Given the description of an element on the screen output the (x, y) to click on. 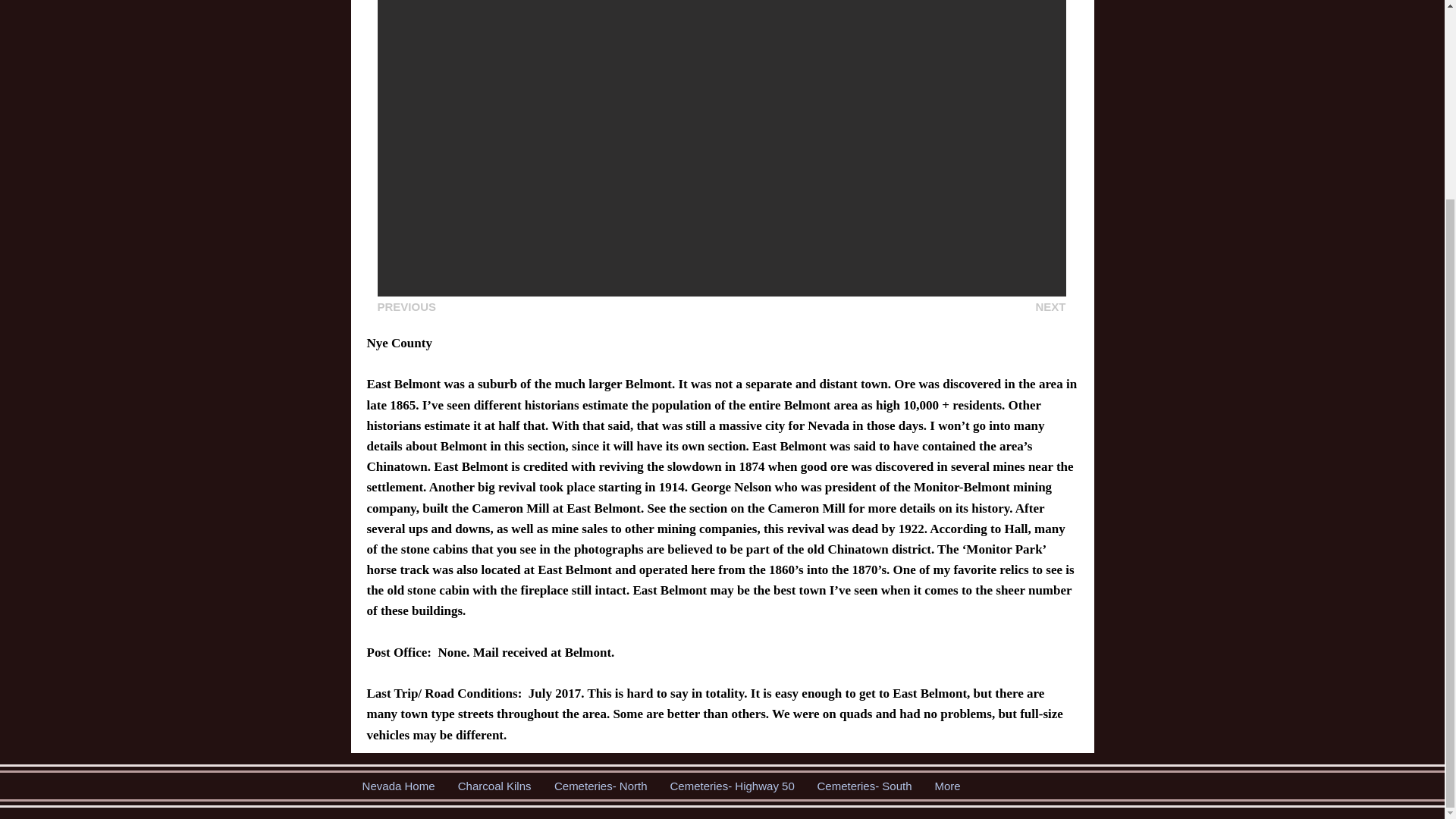
PREVIOUS (406, 306)
Charcoal Kilns (493, 786)
Cemeteries- Highway 50 (731, 786)
Nevada Home (397, 786)
NEXT (1049, 306)
Cemeteries- North (601, 786)
Cemeteries- South (864, 786)
